Given the description of an element on the screen output the (x, y) to click on. 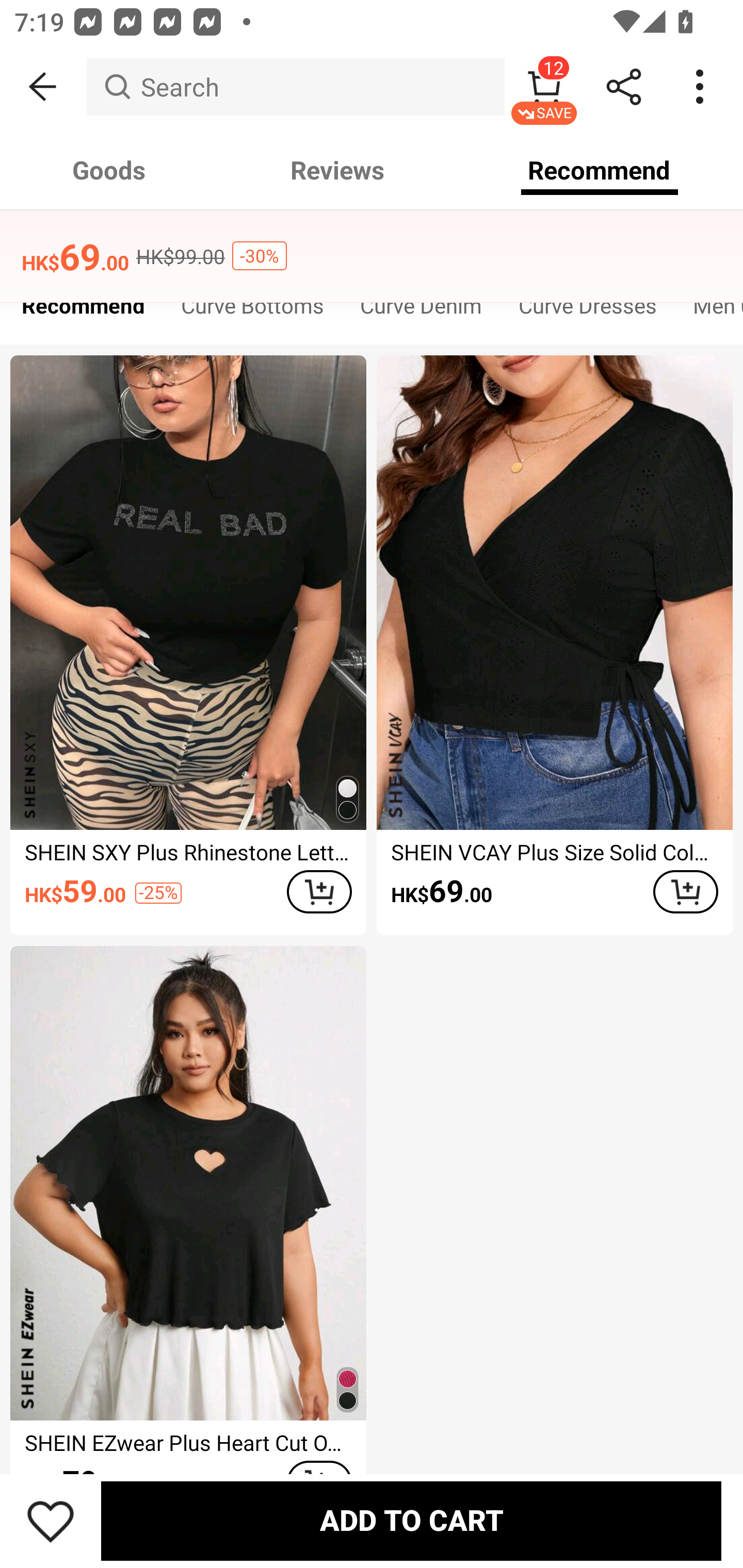
BACK (43, 86)
12 SAVE (543, 87)
Search (295, 87)
Goods (109, 170)
Reviews (337, 170)
Recommend (599, 170)
You May Also Like (371, 244)
Recommend (82, 310)
Curve Bottoms (251, 310)
Curve Denim (420, 310)
Curve Dresses (587, 310)
ADD TO CART (319, 892)
ADD TO CART (685, 892)
ADD TO CART (411, 1520)
Save (50, 1520)
